Given the description of an element on the screen output the (x, y) to click on. 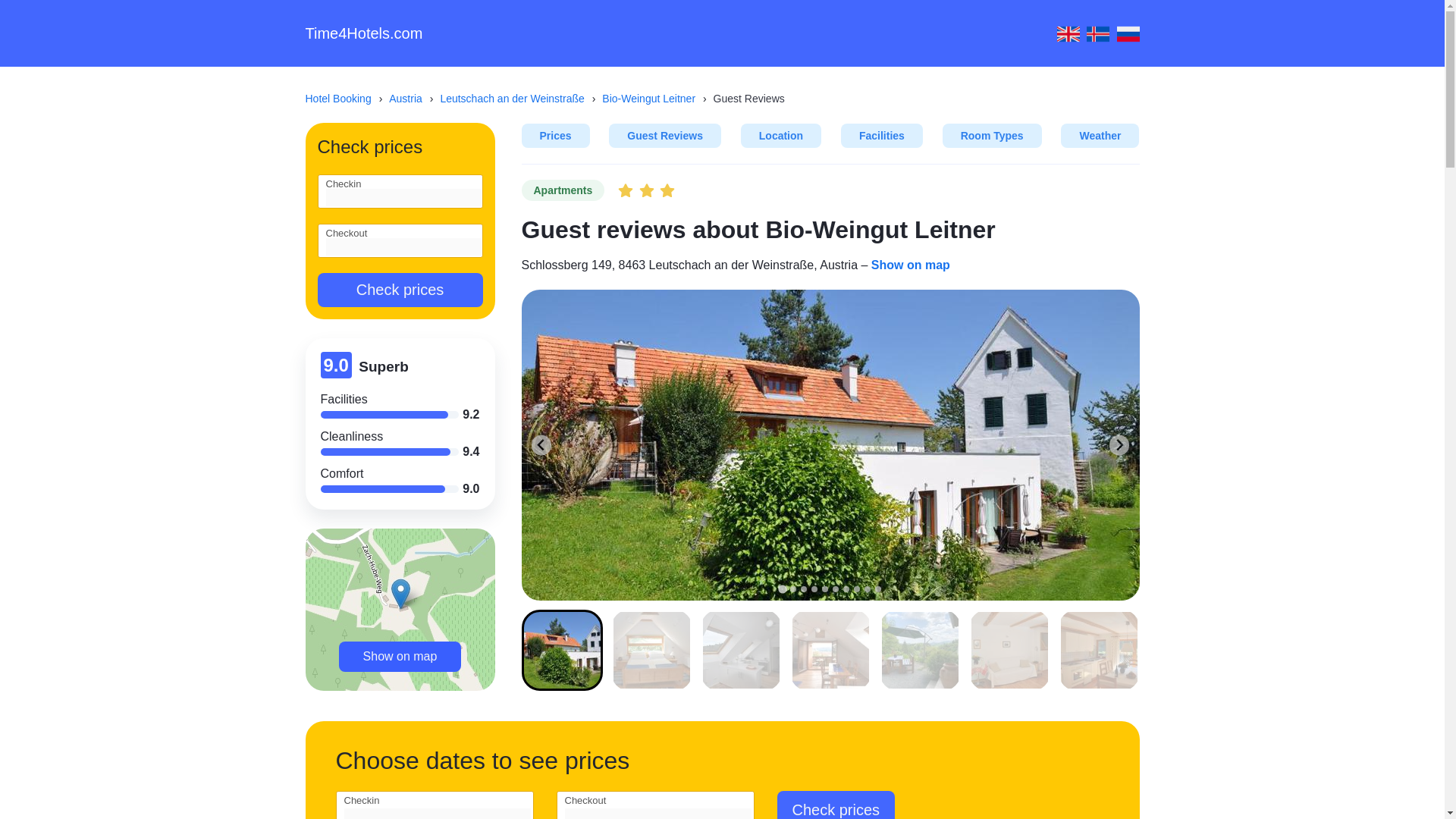
Location (781, 135)
Bio-Weingut Leitner (656, 98)
Prices (555, 135)
Check prices (399, 289)
Weather (1099, 135)
Austria (412, 98)
Guest Reviews (664, 135)
Time4Hotels.com (363, 33)
Check prices (835, 805)
Hotel Booking (344, 98)
Facilities (882, 135)
Show on map (400, 656)
Room Types (992, 135)
Show on map (910, 264)
